Given the description of an element on the screen output the (x, y) to click on. 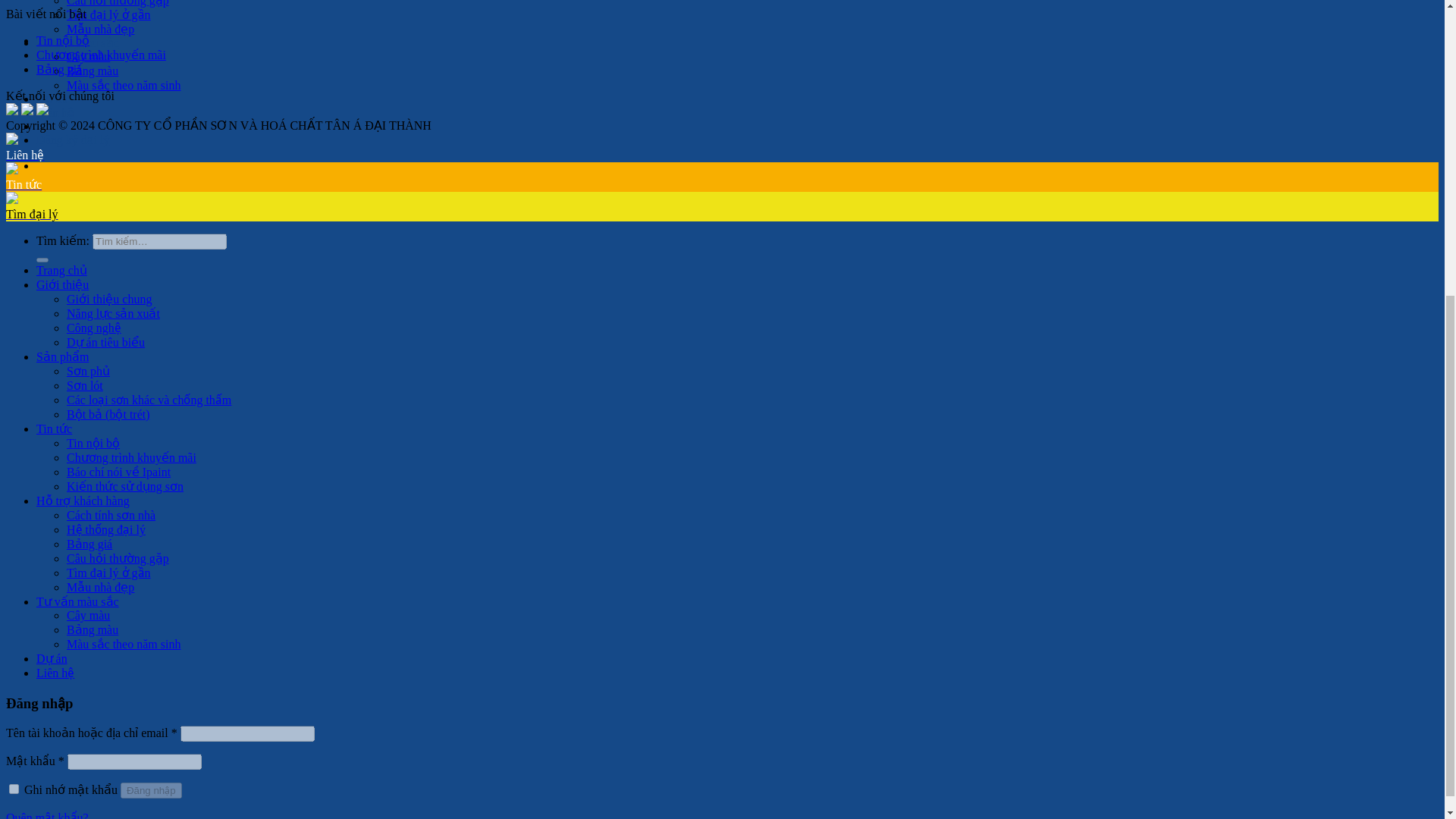
forever (13, 788)
